Given the description of an element on the screen output the (x, y) to click on. 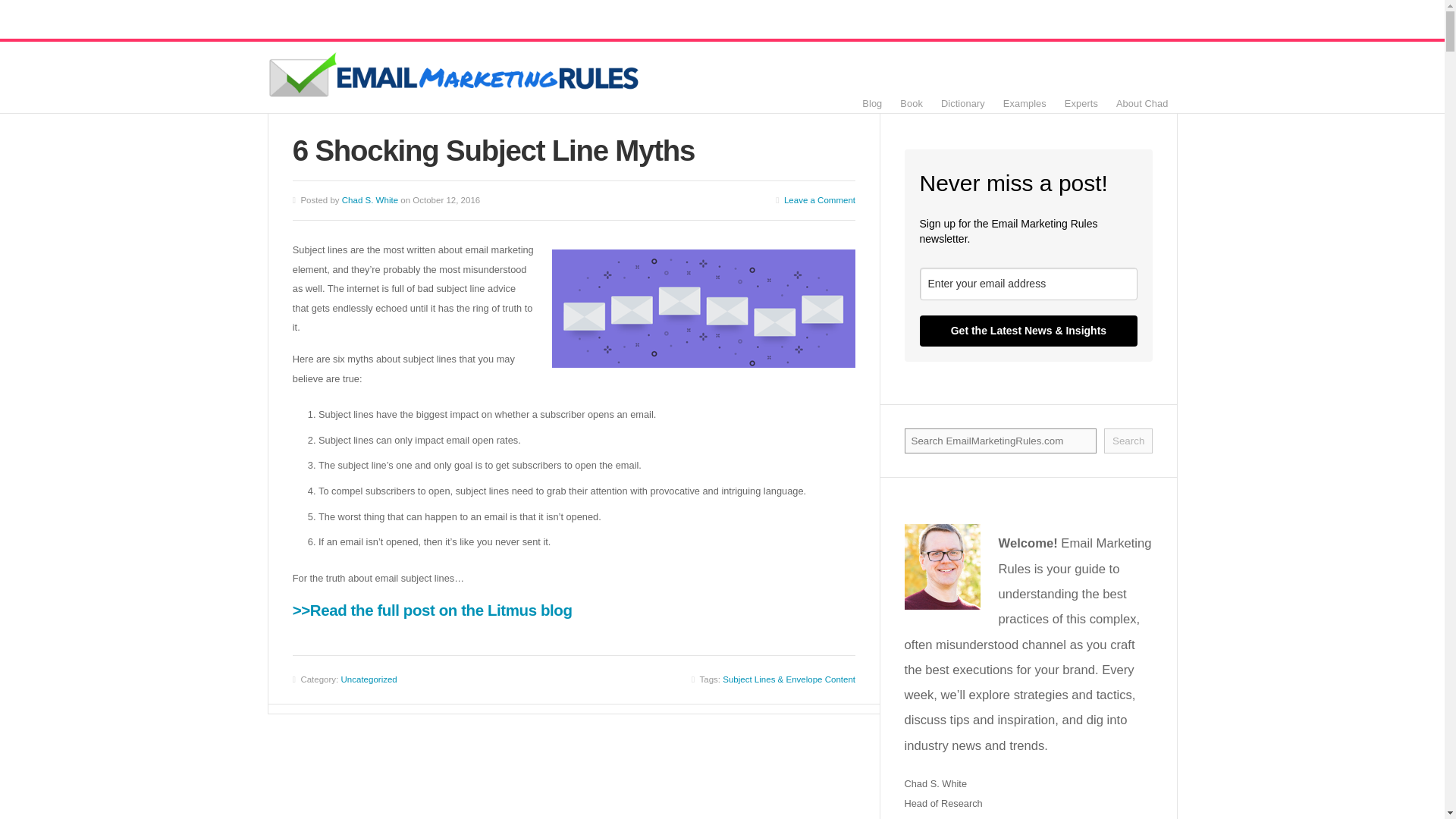
Leave a Comment (820, 199)
Posts by Chad S. White (369, 199)
Blog (872, 103)
Leave a Comment (820, 199)
Book (911, 103)
About Chad (1141, 103)
Experts (1080, 103)
Home (454, 77)
Email Marketing Rules (454, 77)
Search (1128, 440)
Dictionary (962, 103)
Uncategorized (368, 678)
Chad S. White (369, 199)
Examples (1024, 103)
Oracle Digital Experience Agency (976, 817)
